Given the description of an element on the screen output the (x, y) to click on. 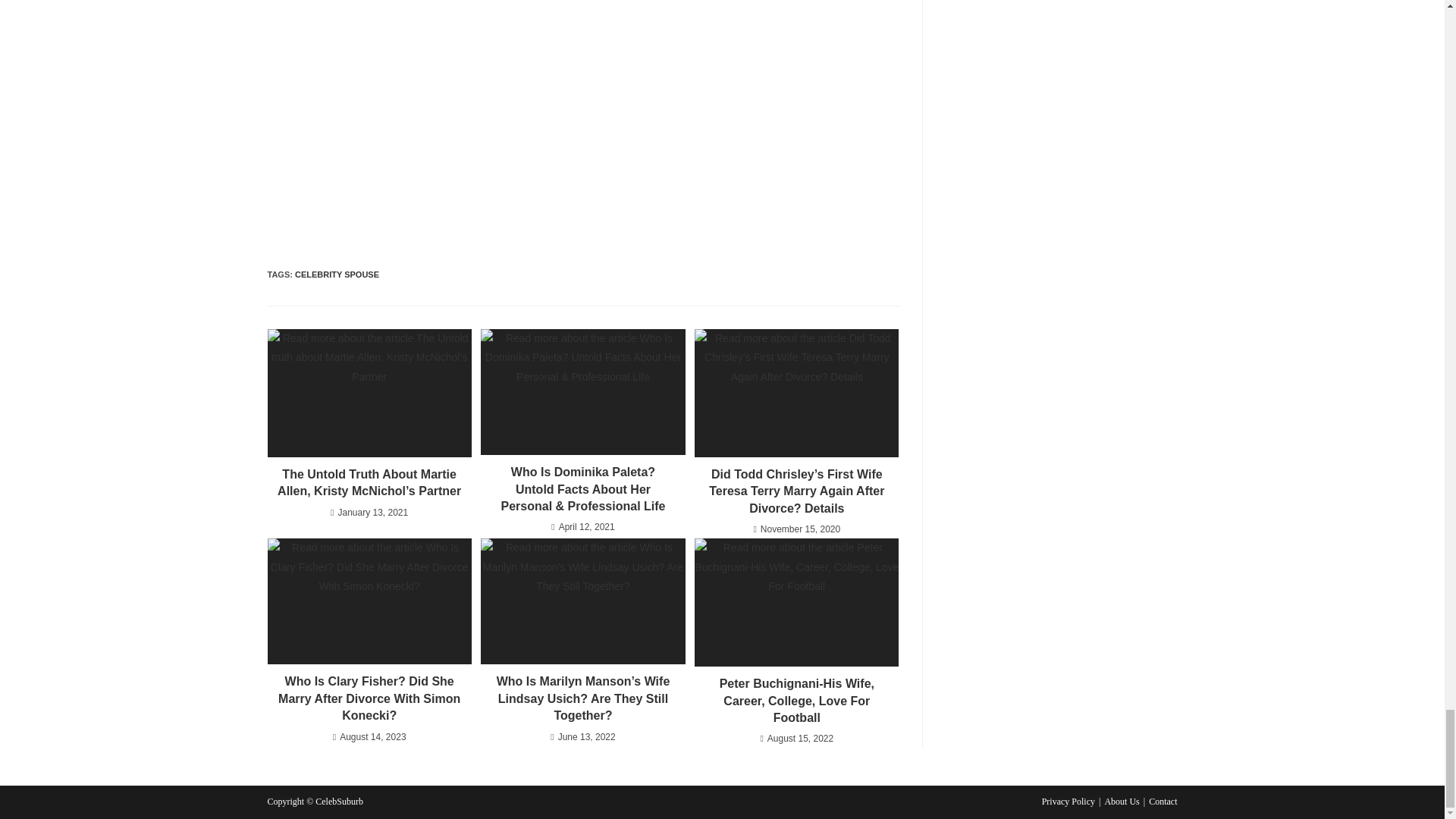
CELEBRITY SPOUSE (336, 274)
